Given the description of an element on the screen output the (x, y) to click on. 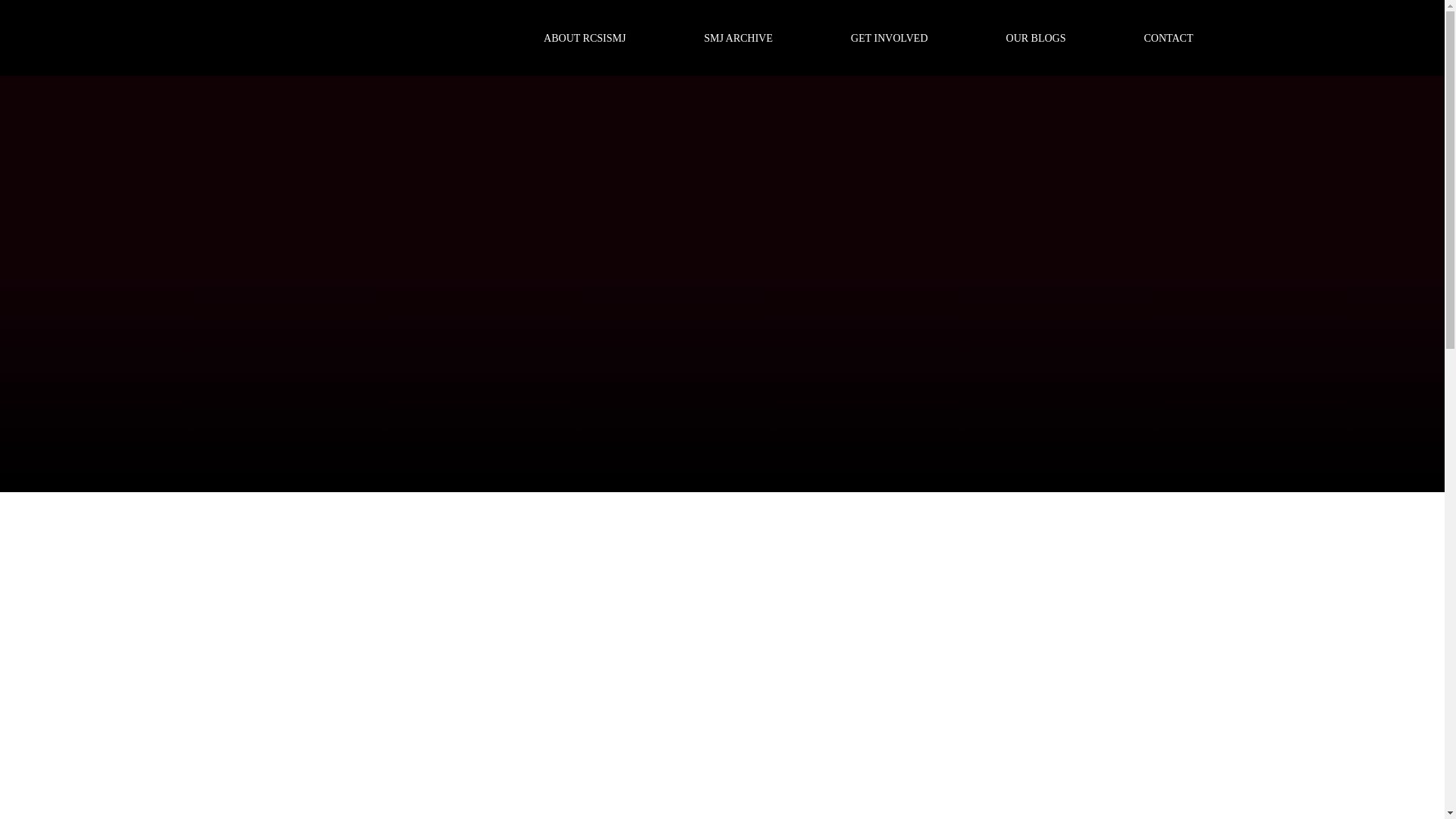
SMJ ARCHIVE (737, 37)
ABOUT RCSISMJ (584, 37)
CONTACT (1168, 37)
OUR BLOGS (1035, 37)
GET INVOLVED (889, 37)
